Given the description of an element on the screen output the (x, y) to click on. 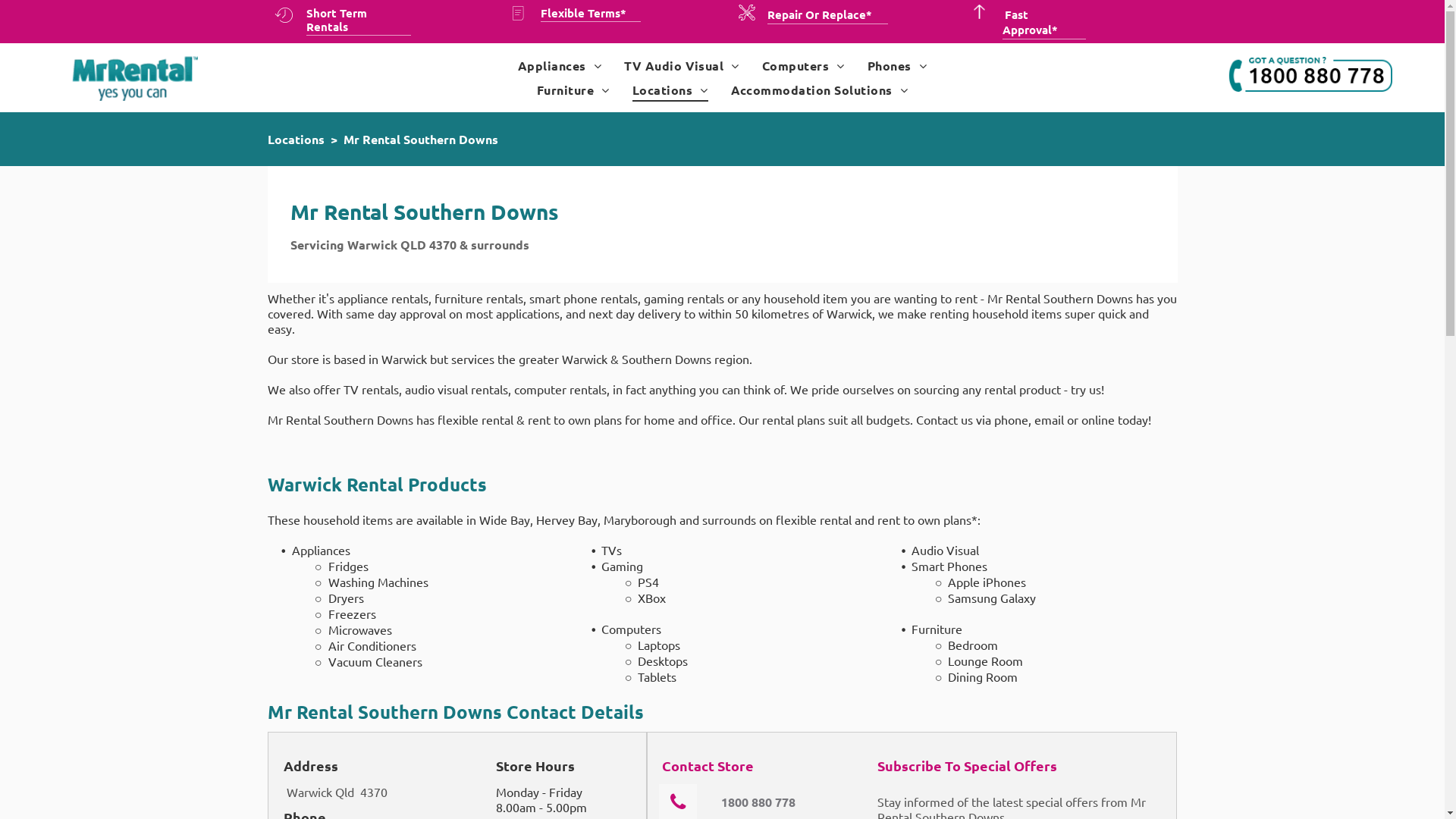
Locations Element type: text (670, 89)
TV Audio Visual Element type: text (681, 65)
Appliances Element type: text (559, 65)
Furniture Element type: text (573, 89)
Repair Or Replace*  Element type: text (820, 13)
 Fast Approval* Element type: text (1029, 21)
Short Term Rentals Element type: text (336, 19)
Accommodation Solutions Element type: text (819, 89)
* Element type: text (623, 12)
Locations Element type: text (294, 139)
Phones Element type: text (897, 65)
Computers Element type: text (803, 65)
